Given the description of an element on the screen output the (x, y) to click on. 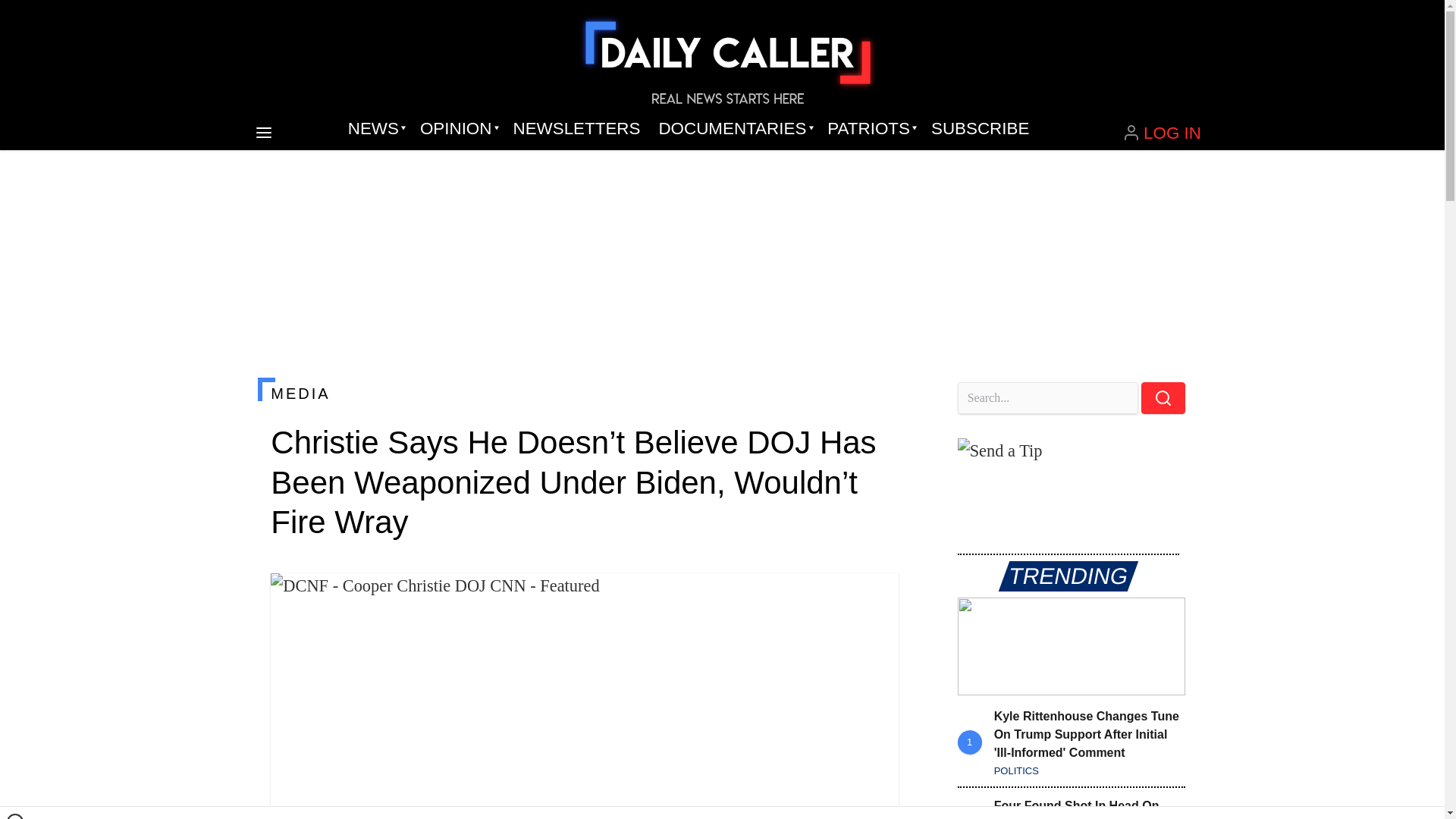
Toggle fullscreen (874, 596)
NEWS (374, 128)
MEDIA (584, 393)
NEWSLETTERS (576, 128)
PATRIOTS (869, 128)
DOCUMENTARIES (733, 128)
Close window (14, 816)
SUBSCRIBE (979, 128)
